Given the description of an element on the screen output the (x, y) to click on. 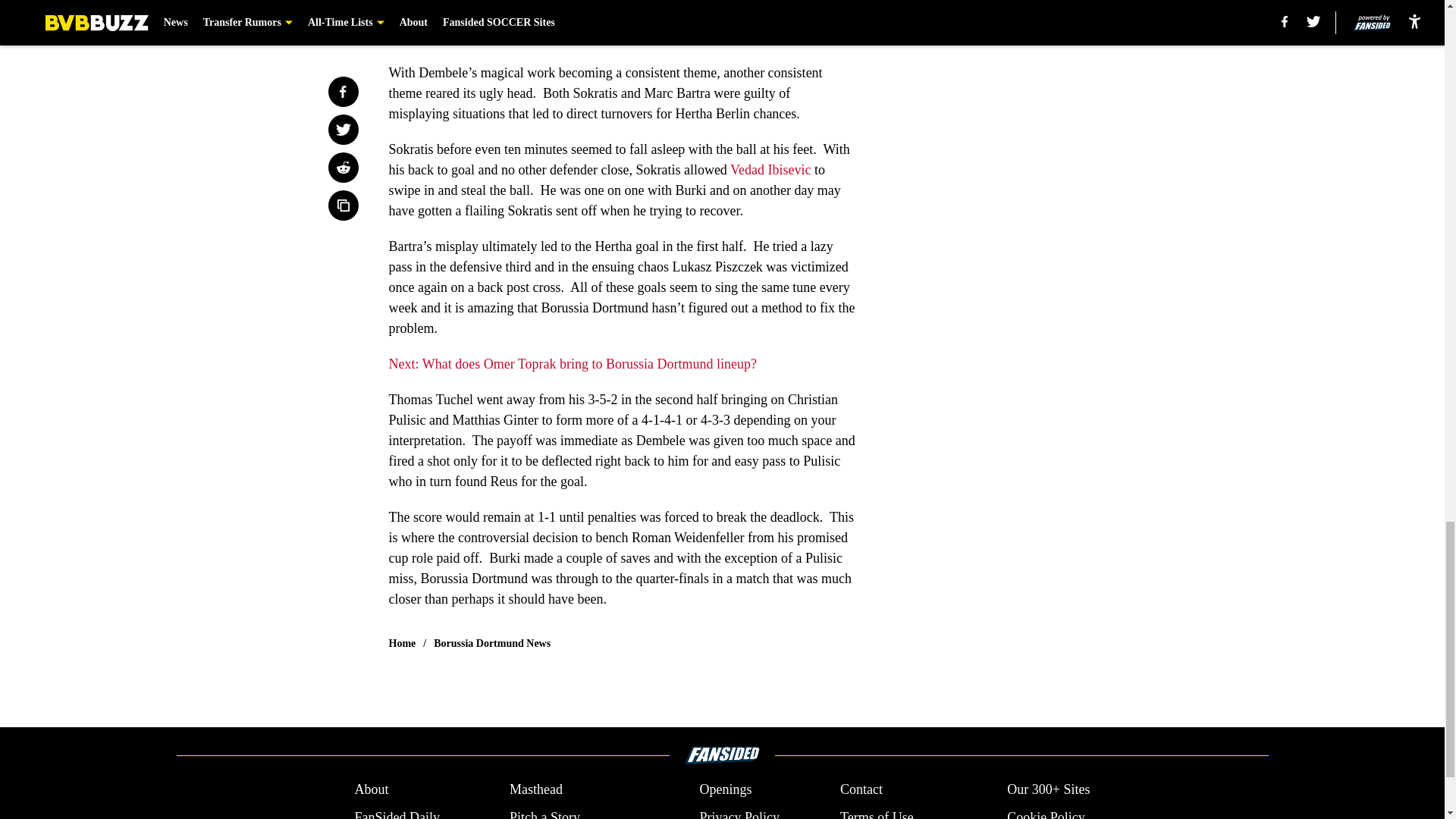
About (370, 789)
Contact (861, 789)
Borussia Dortmund News (491, 643)
Home (401, 643)
Masthead (535, 789)
Openings (724, 789)
Vedad Ibisevic (770, 169)
